Given the description of an element on the screen output the (x, y) to click on. 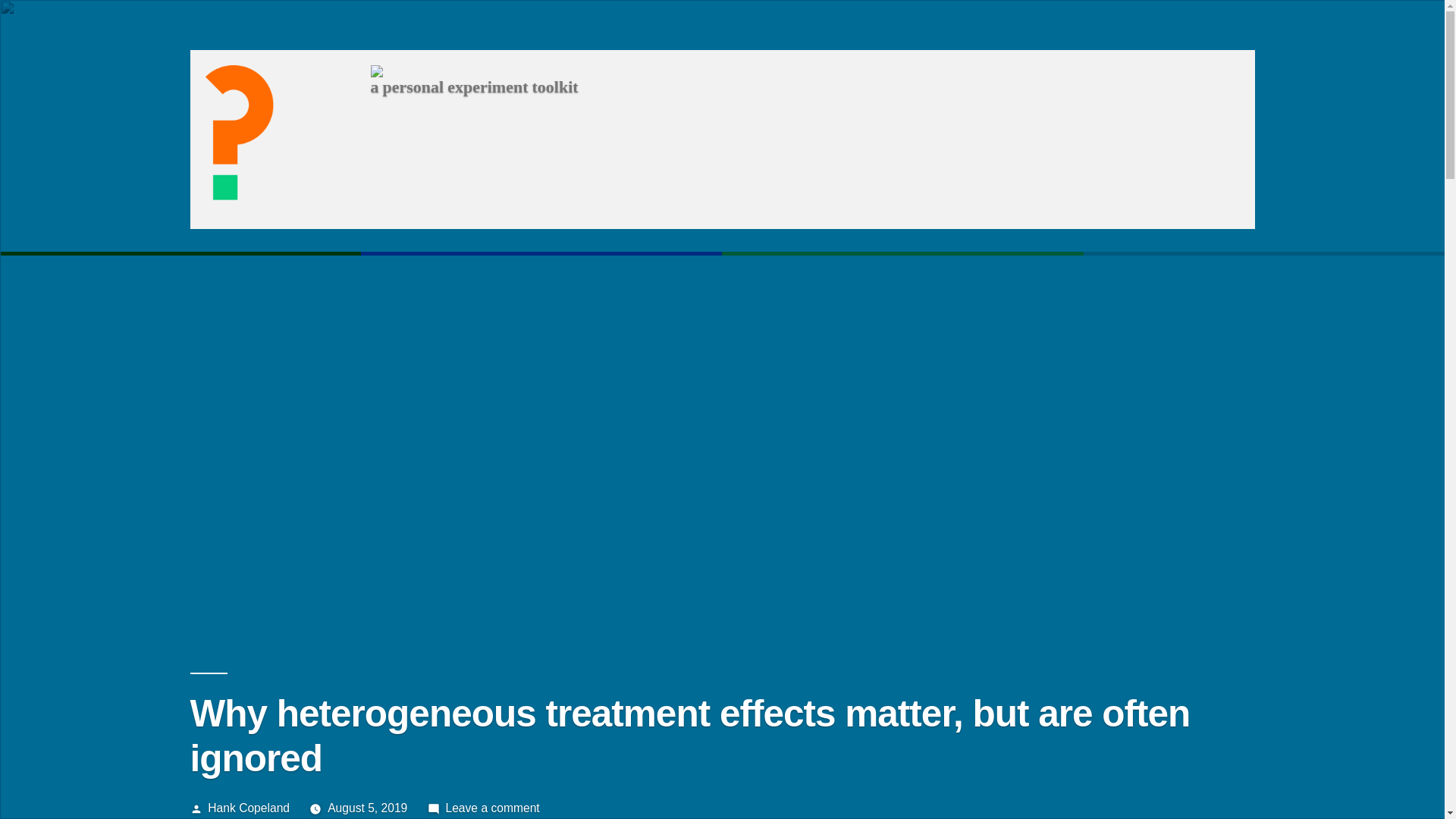
Hank Copeland (248, 807)
August 5, 2019 (367, 807)
